Given the description of an element on the screen output the (x, y) to click on. 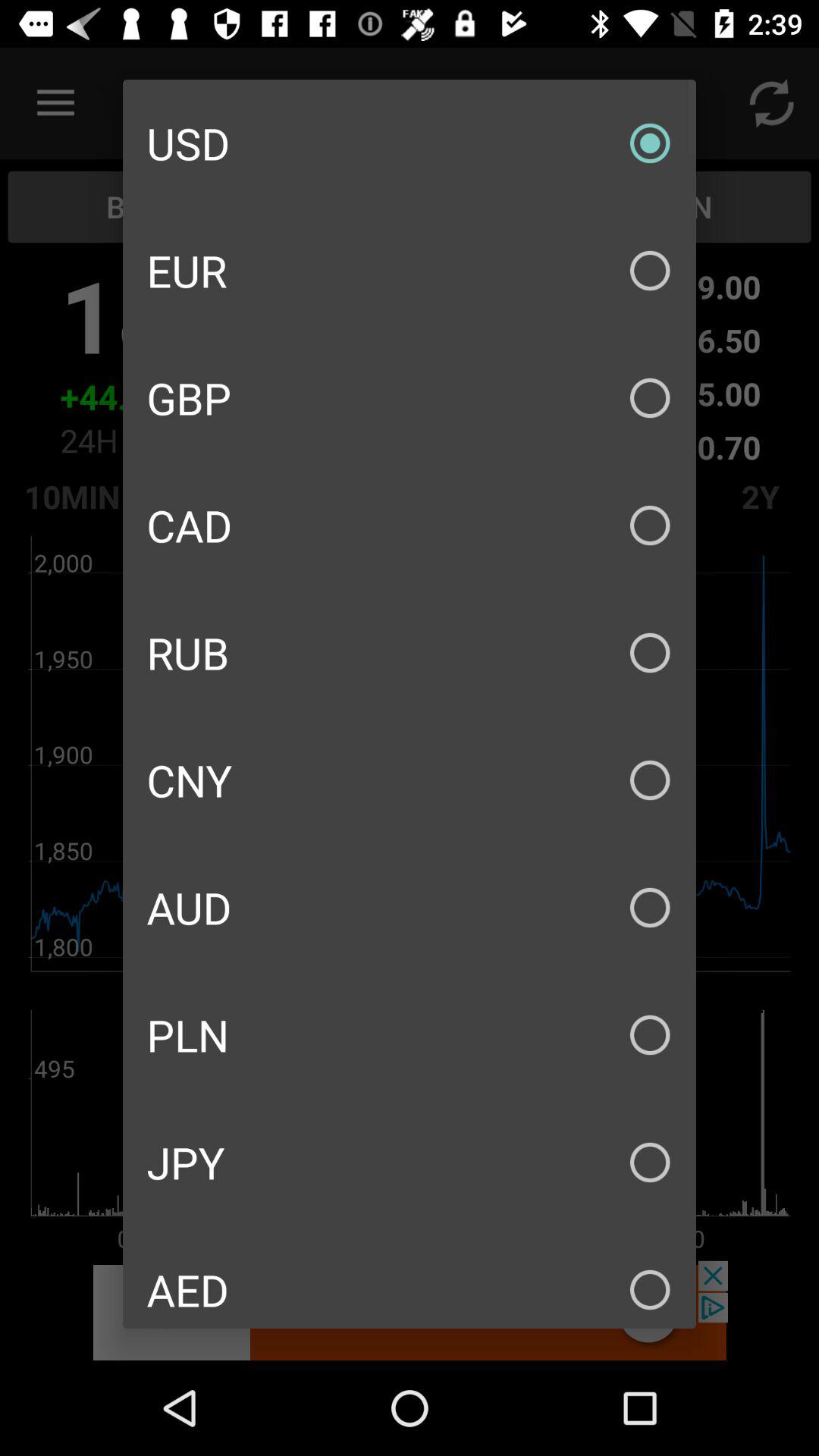
click the icon below the eur item (409, 397)
